Given the description of an element on the screen output the (x, y) to click on. 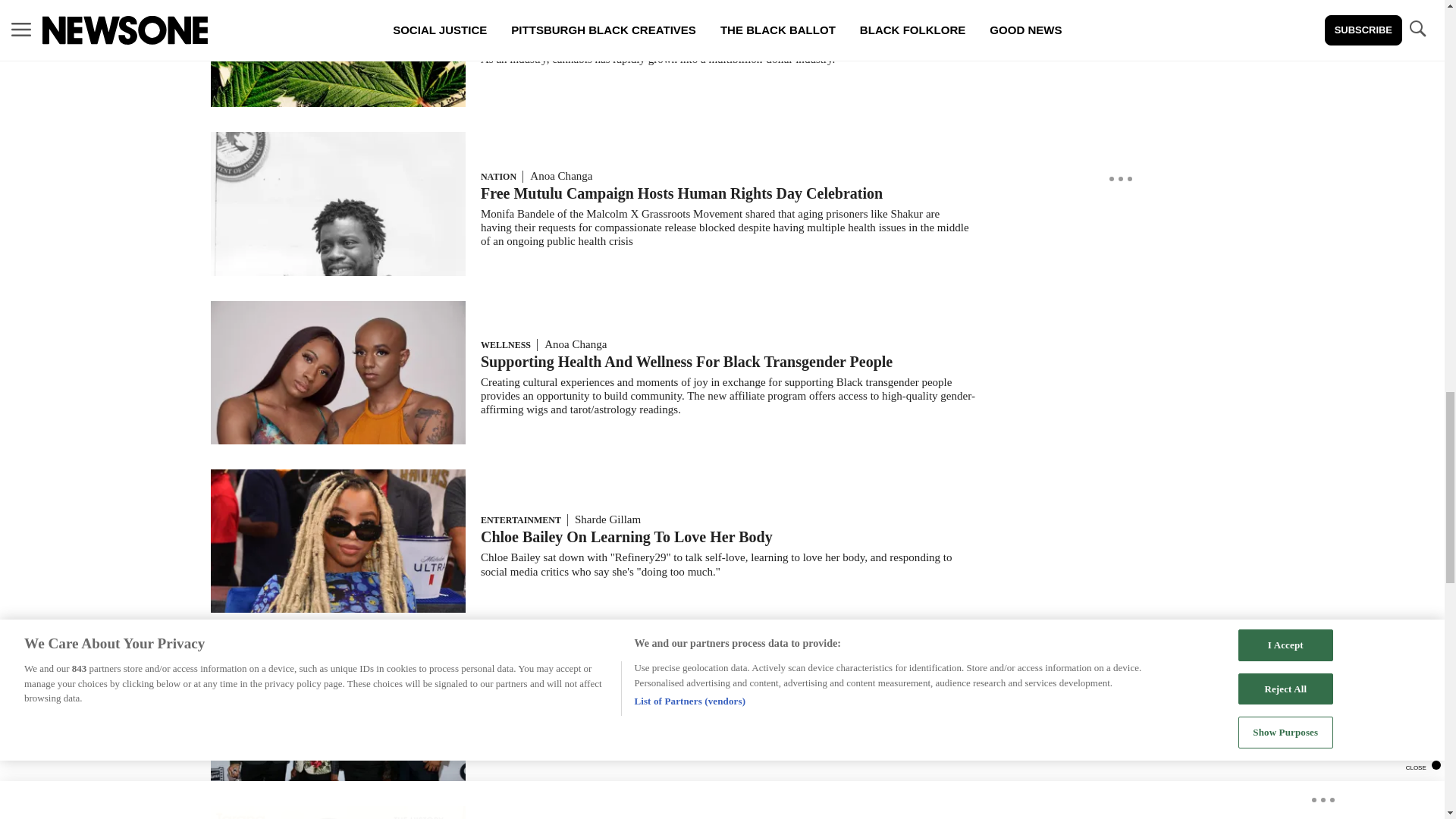
NATION (498, 176)
Anoa Changa (676, 21)
